Given the description of an element on the screen output the (x, y) to click on. 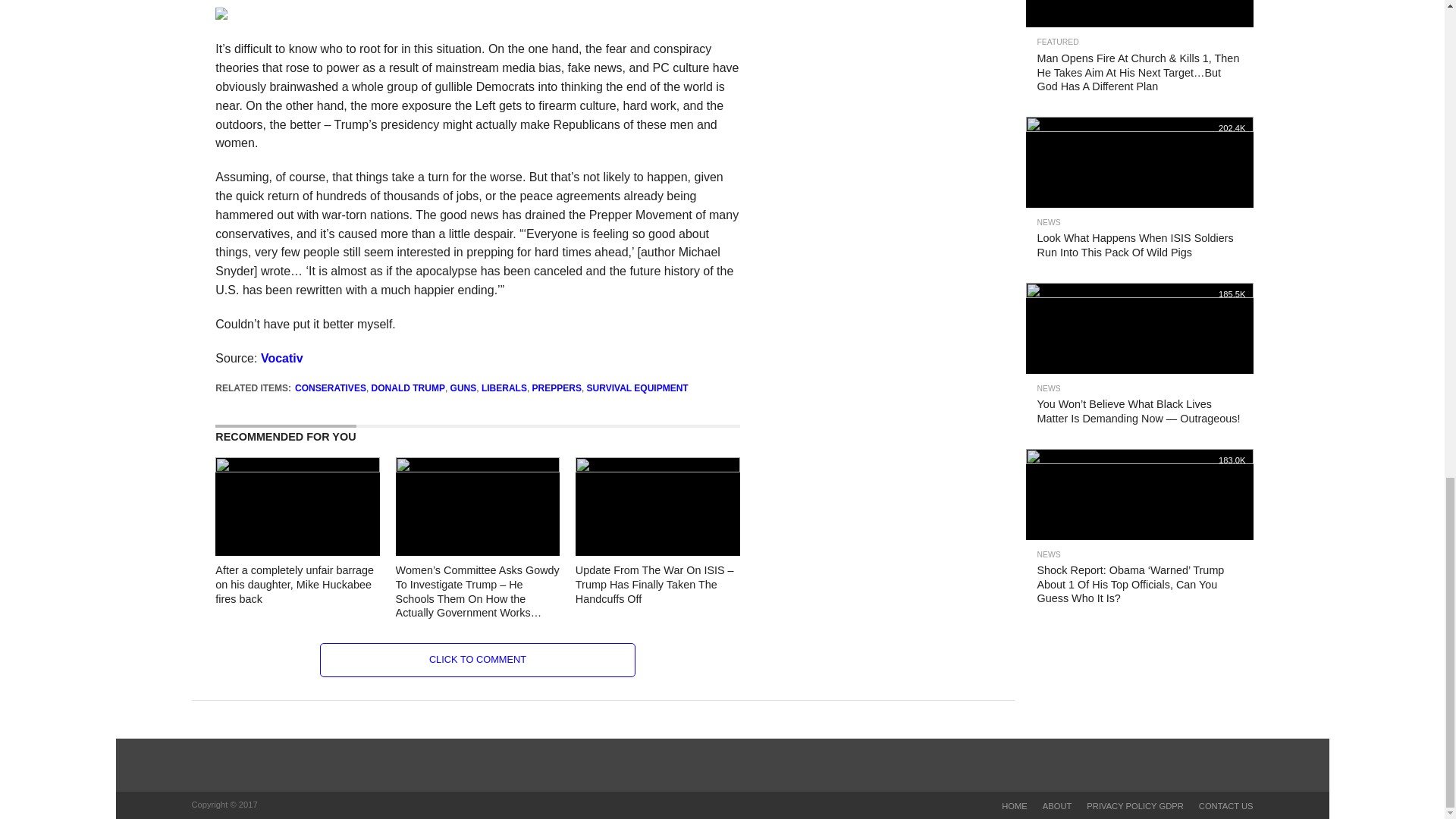
PREPPERS (556, 388)
GUNS (463, 388)
SURVIVAL EQUIPMENT (637, 388)
CONSERATIVES (330, 388)
DONALD TRUMP (408, 388)
Vocativ (281, 358)
LIBERALS (504, 388)
